Given the description of an element on the screen output the (x, y) to click on. 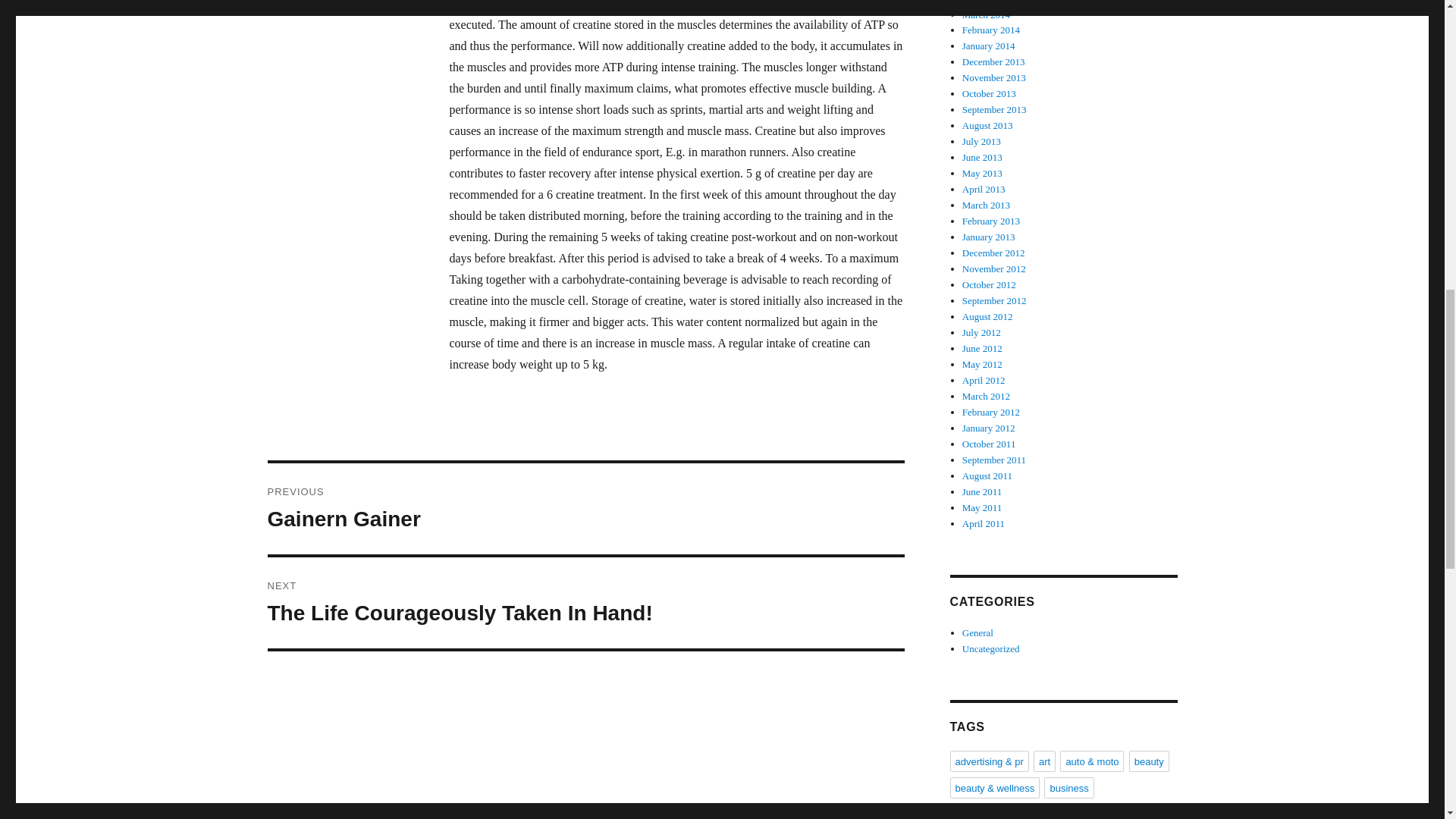
May 2014 (982, 2)
February 2014 (991, 30)
January 2014 (988, 45)
March 2014 (986, 14)
